Given the description of an element on the screen output the (x, y) to click on. 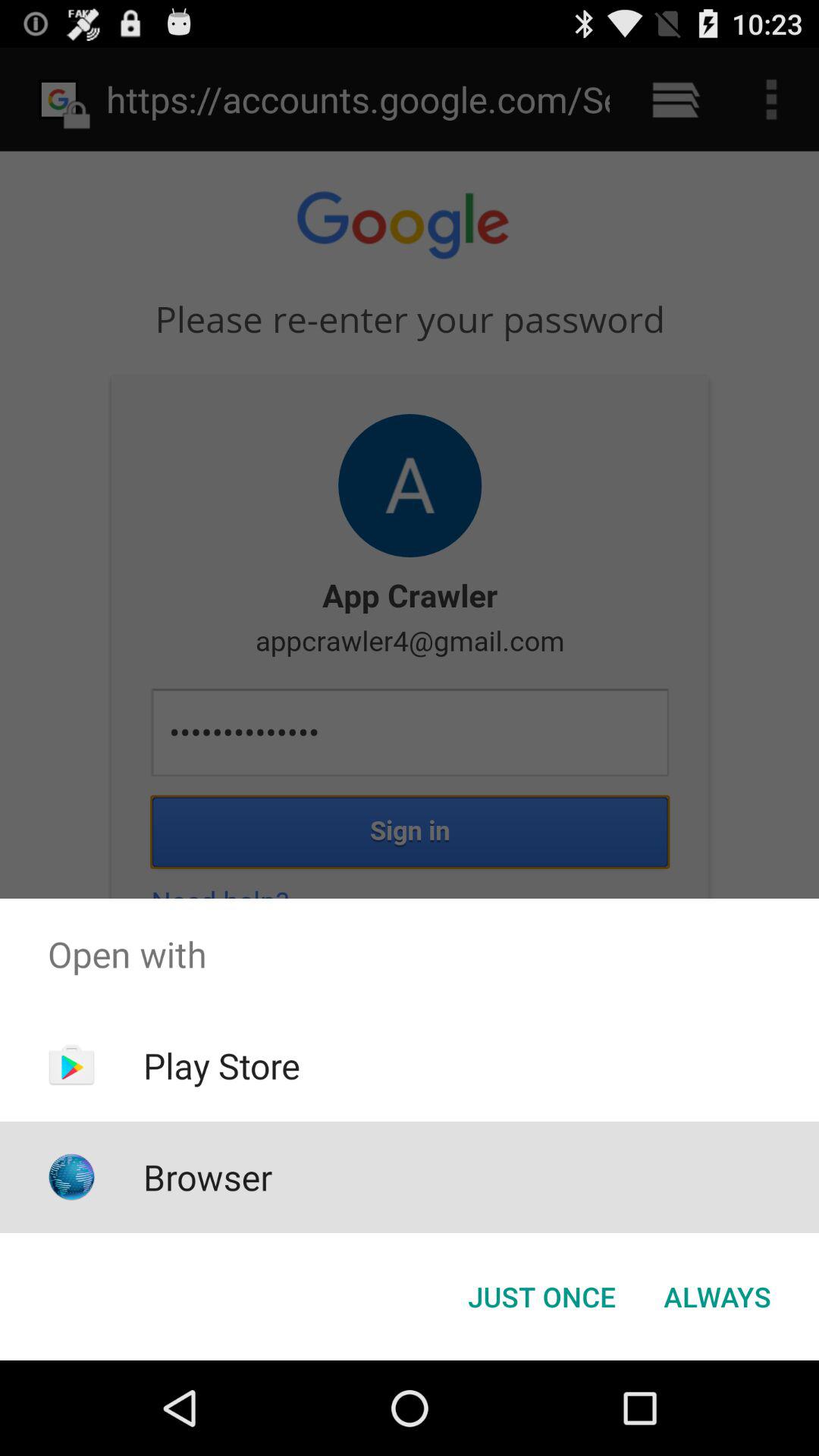
turn off the icon above the browser app (221, 1065)
